Given the description of an element on the screen output the (x, y) to click on. 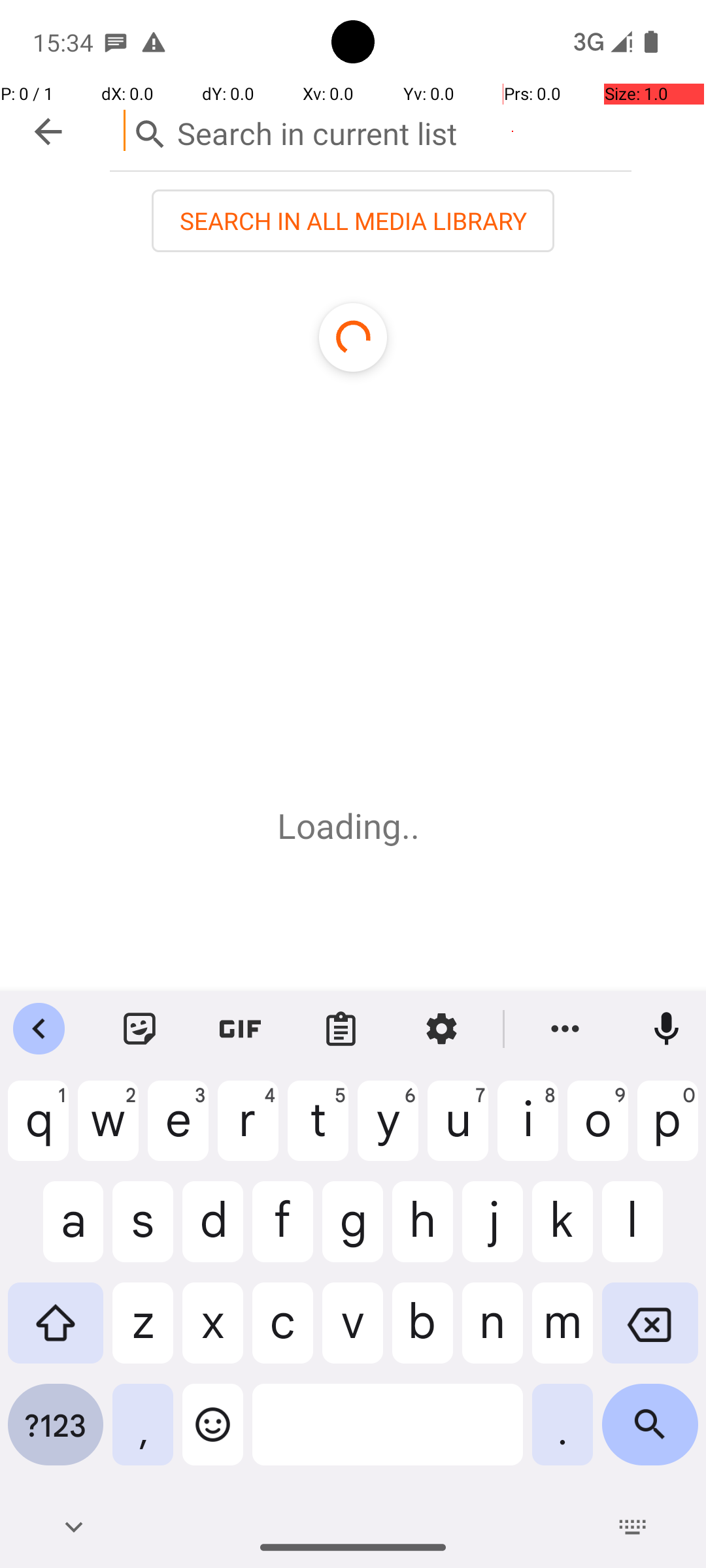
SEARCH IN ALL MEDIA LIBRARY Element type: android.widget.Button (352, 220)
Loading Element type: android.widget.TextView (339, 825)
.. Element type: android.widget.TextView (414, 825)
   Search in current list Element type: android.widget.AutoCompleteTextView (370, 130)
